Given the description of an element on the screen output the (x, y) to click on. 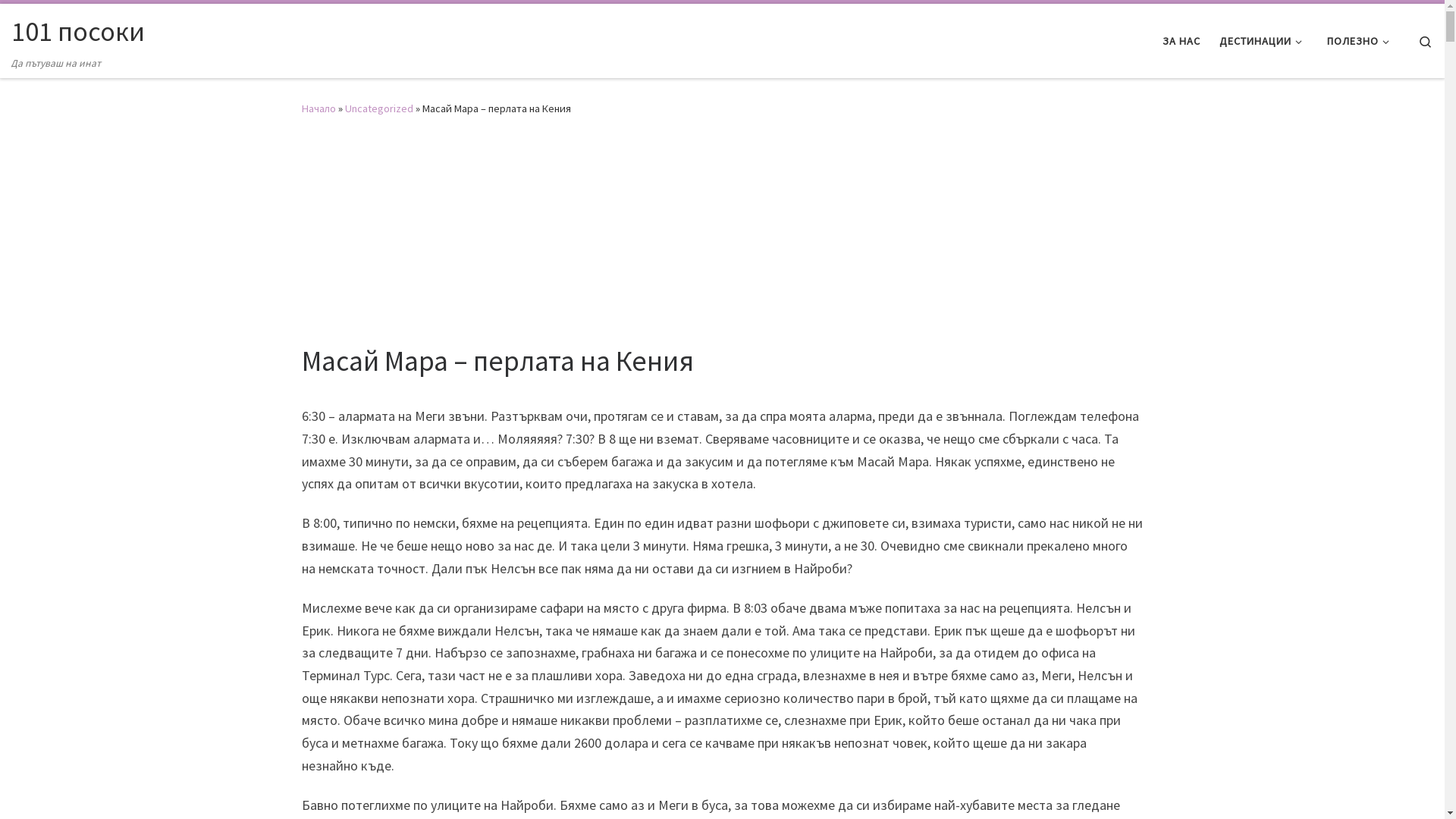
Uncategorized Element type: text (378, 108)
Search Element type: text (1424, 40)
